Given the description of an element on the screen output the (x, y) to click on. 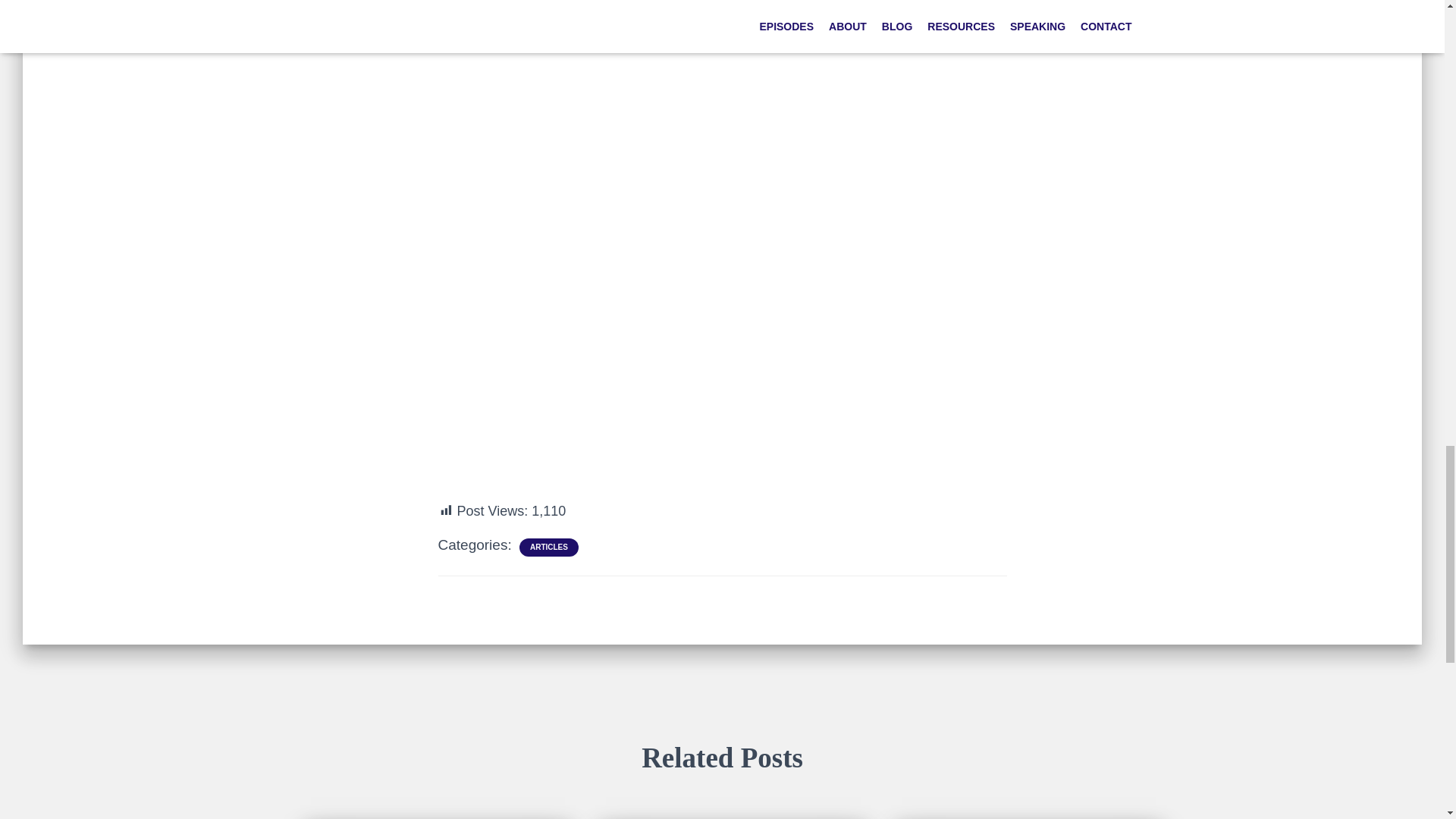
ARTICLES (548, 547)
